Given the description of an element on the screen output the (x, y) to click on. 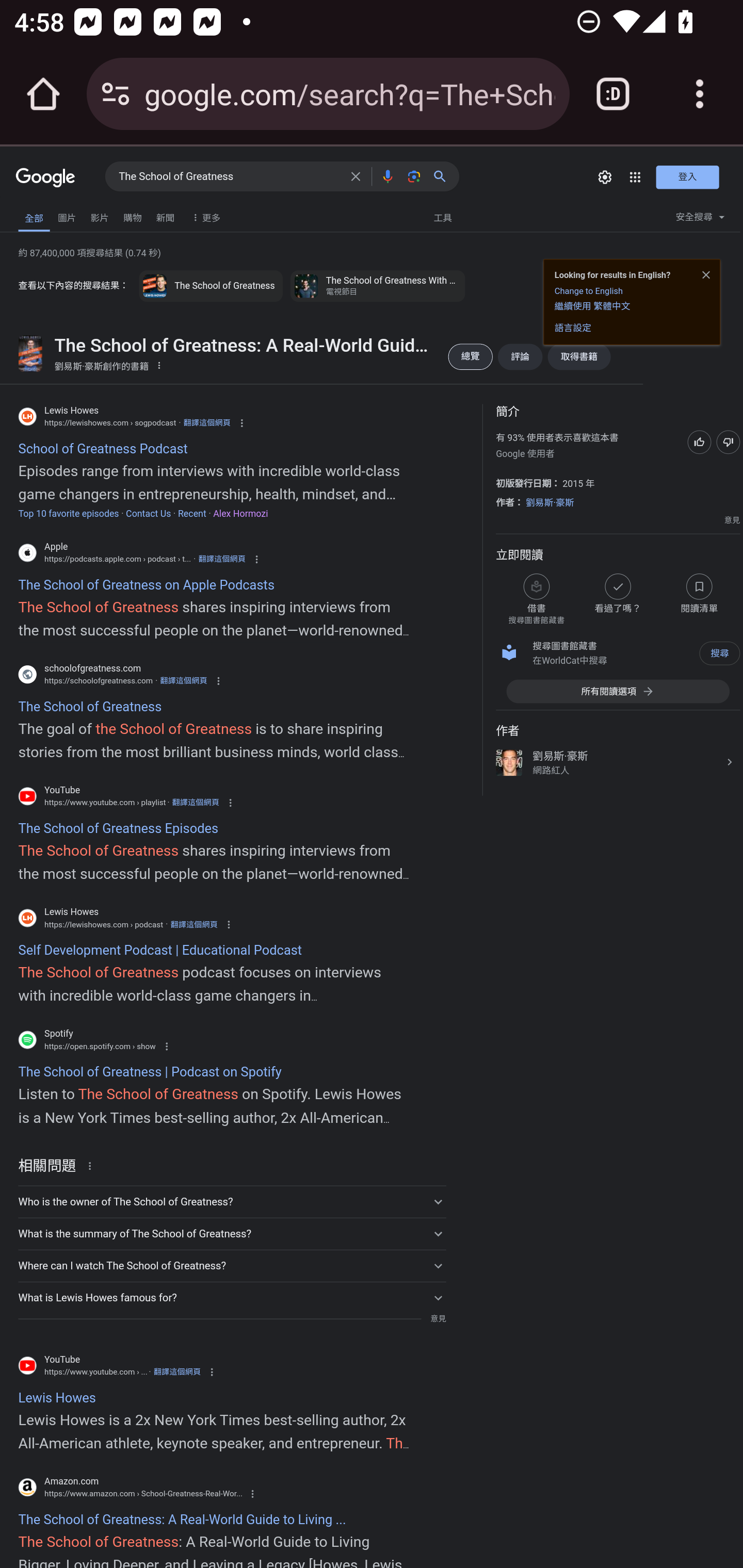
Open the home page (43, 93)
Connection is secure (115, 93)
Switch or close tabs (612, 93)
Customize and control Google Chrome (699, 93)
